Given the description of an element on the screen output the (x, y) to click on. 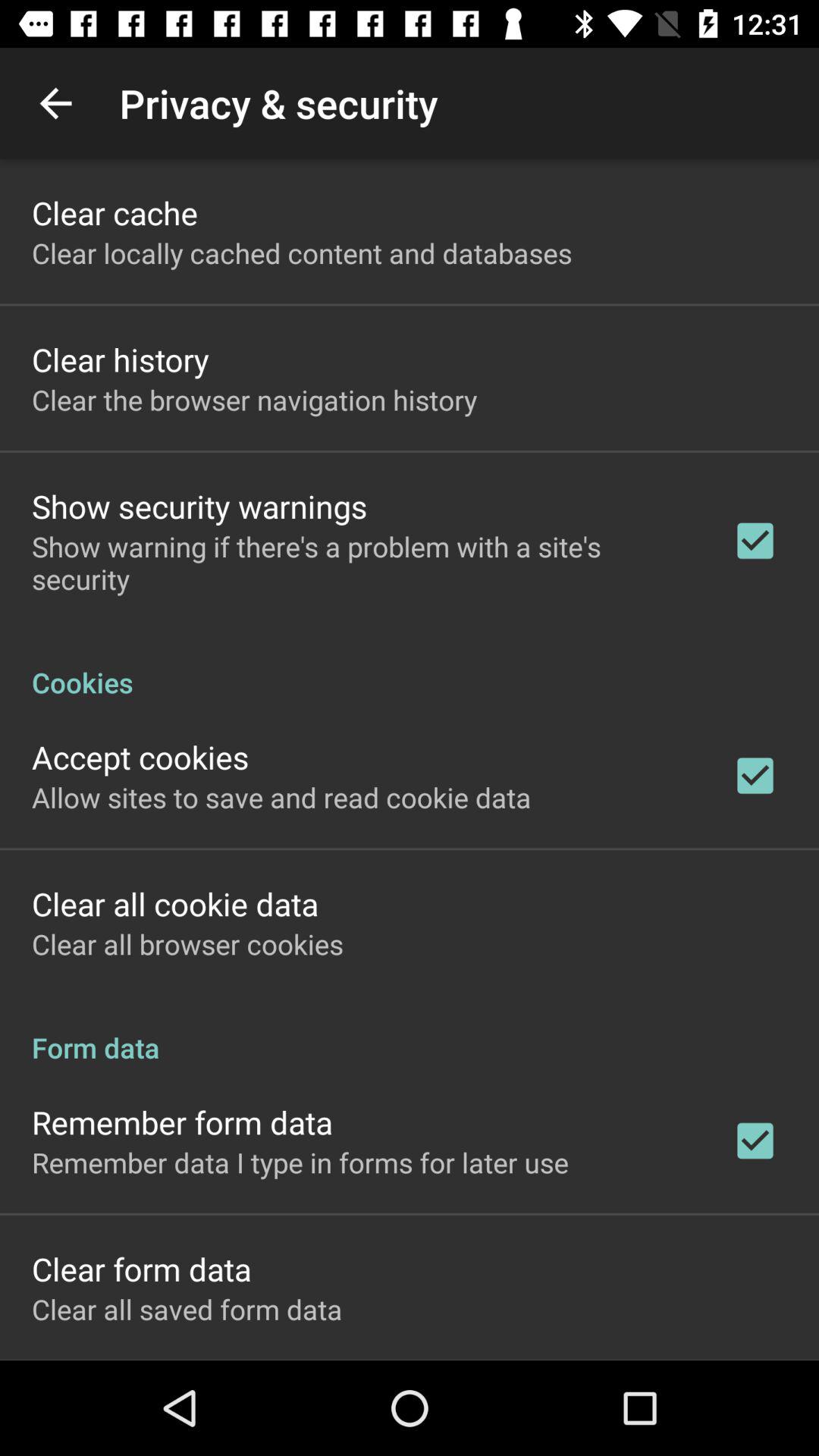
swipe to the clear locally cached app (301, 252)
